Given the description of an element on the screen output the (x, y) to click on. 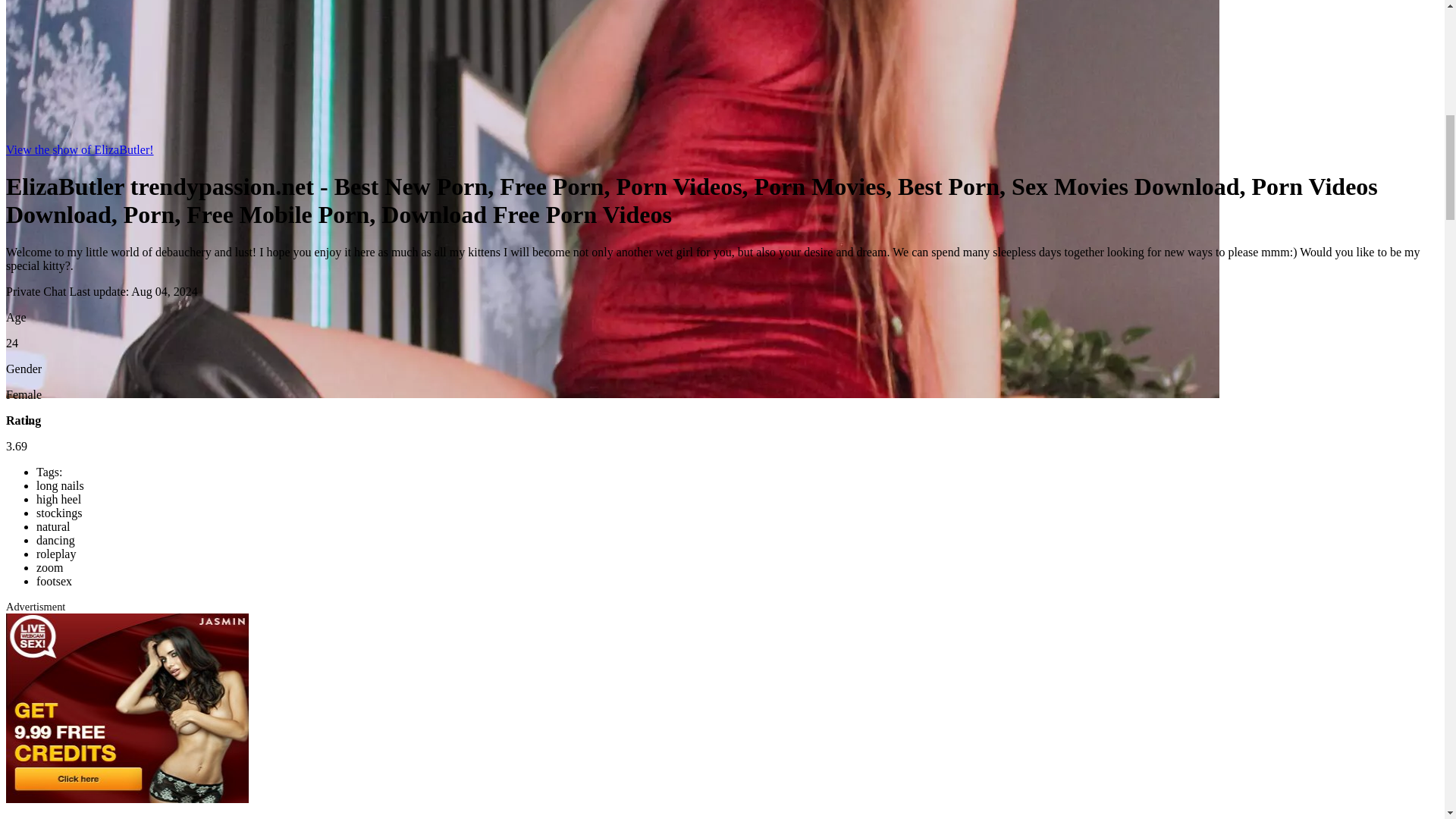
View the show of ElizaButler! (79, 149)
View the show of ElizaButler! (79, 149)
